Given the description of an element on the screen output the (x, y) to click on. 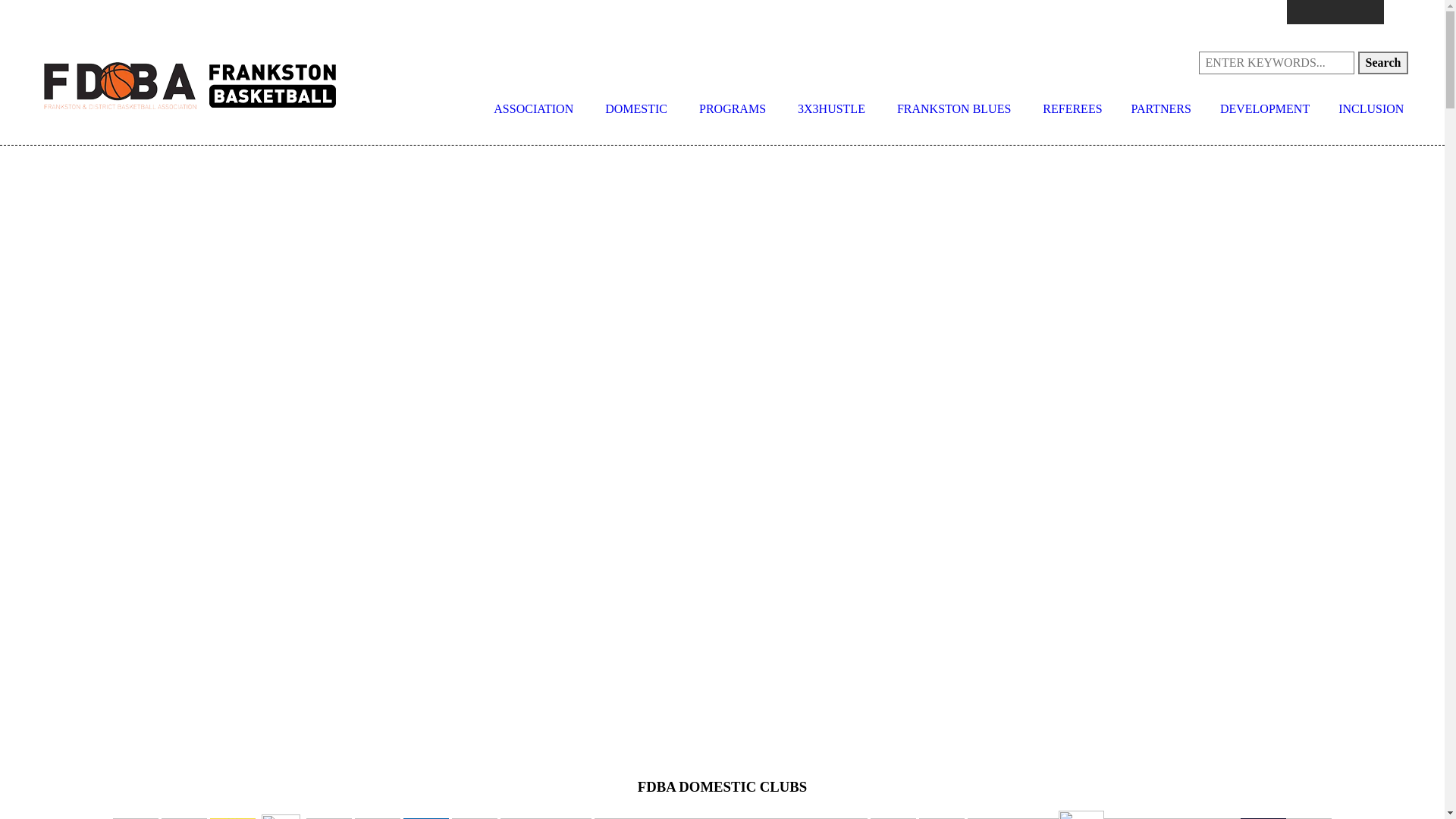
Facebook Element type: hover (1298, 12)
PROGRAMS Element type: text (732, 108)
competitions@fdba.com.au Element type: text (384, 11)
ASSOCIATION Element type: text (533, 108)
3X3HUSTLE Element type: text (831, 108)
FRANKSTON BLUES Element type: text (953, 108)
INCLUSION Element type: text (1370, 108)
Search Element type: text (1383, 62)
LinkedIn Element type: hover (1395, 12)
DOMESTIC Element type: text (635, 108)
Instagram Element type: hover (1323, 12)
PARTNERS Element type: text (1160, 108)
DEVELOPMENT Element type: text (1264, 108)
programs@fdba.com.au Element type: text (535, 11)
Twitter Element type: hover (1347, 12)
REFEREES Element type: text (1072, 108)
Youtube Element type: hover (1371, 12)
